Given the description of an element on the screen output the (x, y) to click on. 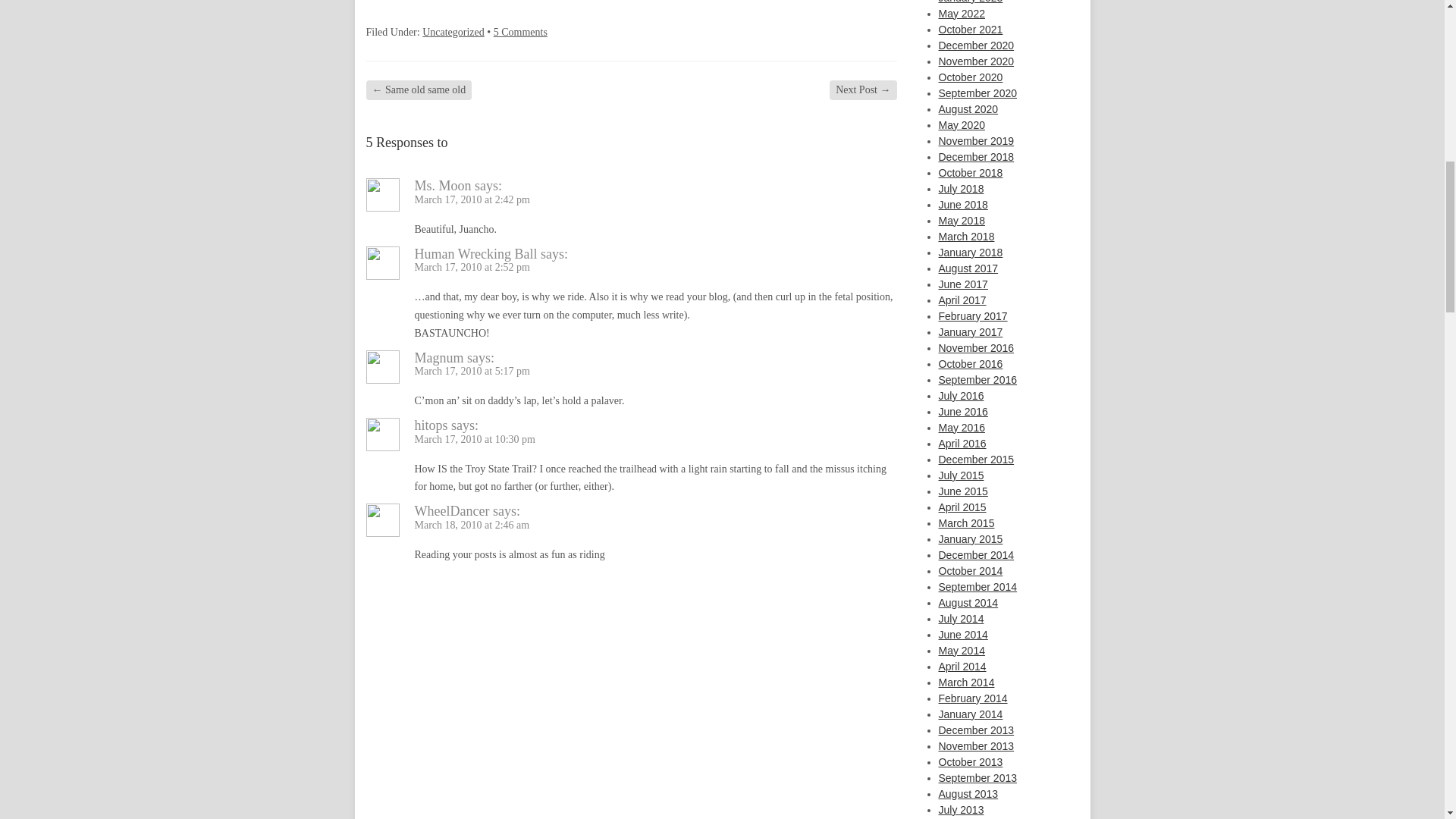
Human Wrecking Ball (475, 253)
Magnum (438, 357)
March 17, 2010 at 2:52 pm (471, 266)
Ms. Moon (441, 185)
WheelDancer (451, 510)
March 17, 2010 at 10:30 pm (473, 439)
March 17, 2010 at 5:17 pm (471, 370)
March 17, 2010 at 2:42 pm (471, 199)
Uncategorized (453, 31)
5 Comments (520, 31)
March 18, 2010 at 2:46 am (471, 524)
hitops (429, 425)
